Given the description of an element on the screen output the (x, y) to click on. 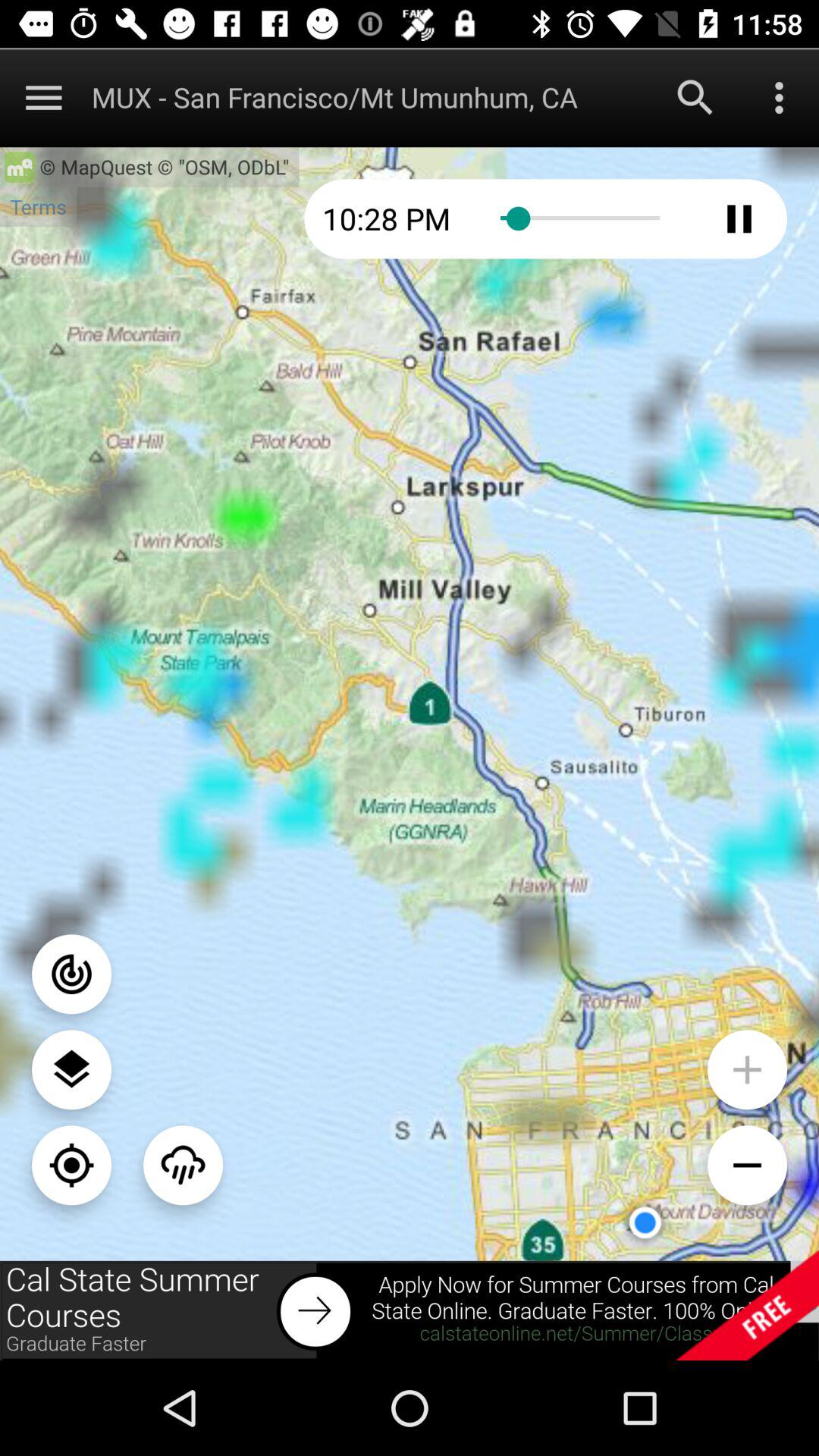
go to addverdisment (409, 1310)
